Given the description of an element on the screen output the (x, y) to click on. 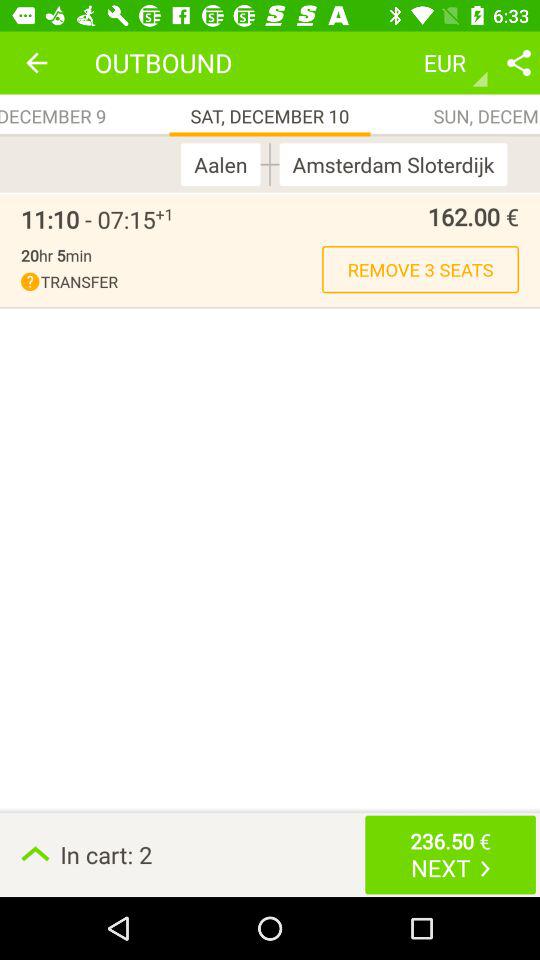
select the remove 3 seats icon (420, 269)
